Given the description of an element on the screen output the (x, y) to click on. 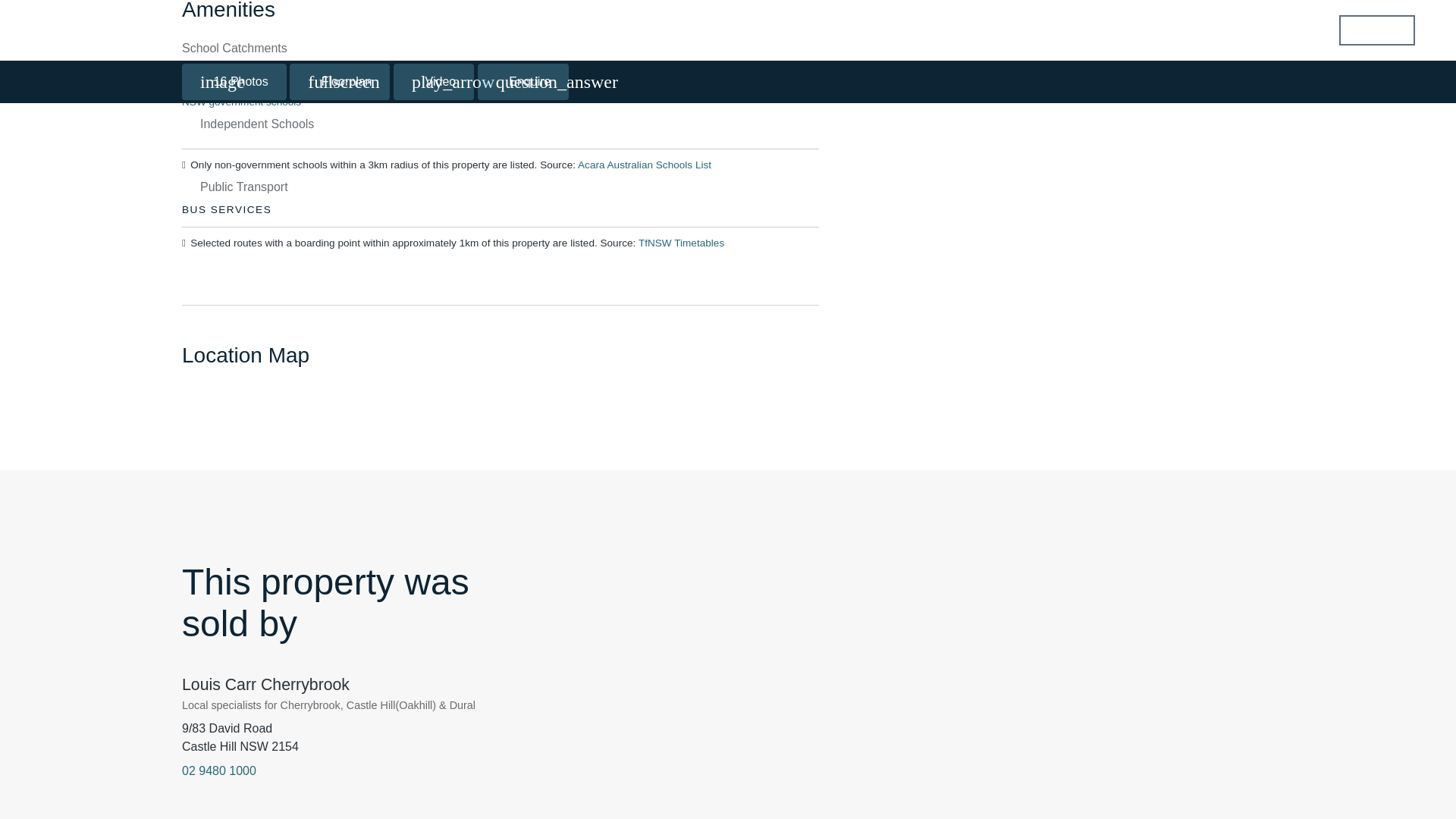
School intake zones for NSW government schools (490, 95)
Independent Schools (257, 123)
School Catchments (234, 48)
